Given the description of an element on the screen output the (x, y) to click on. 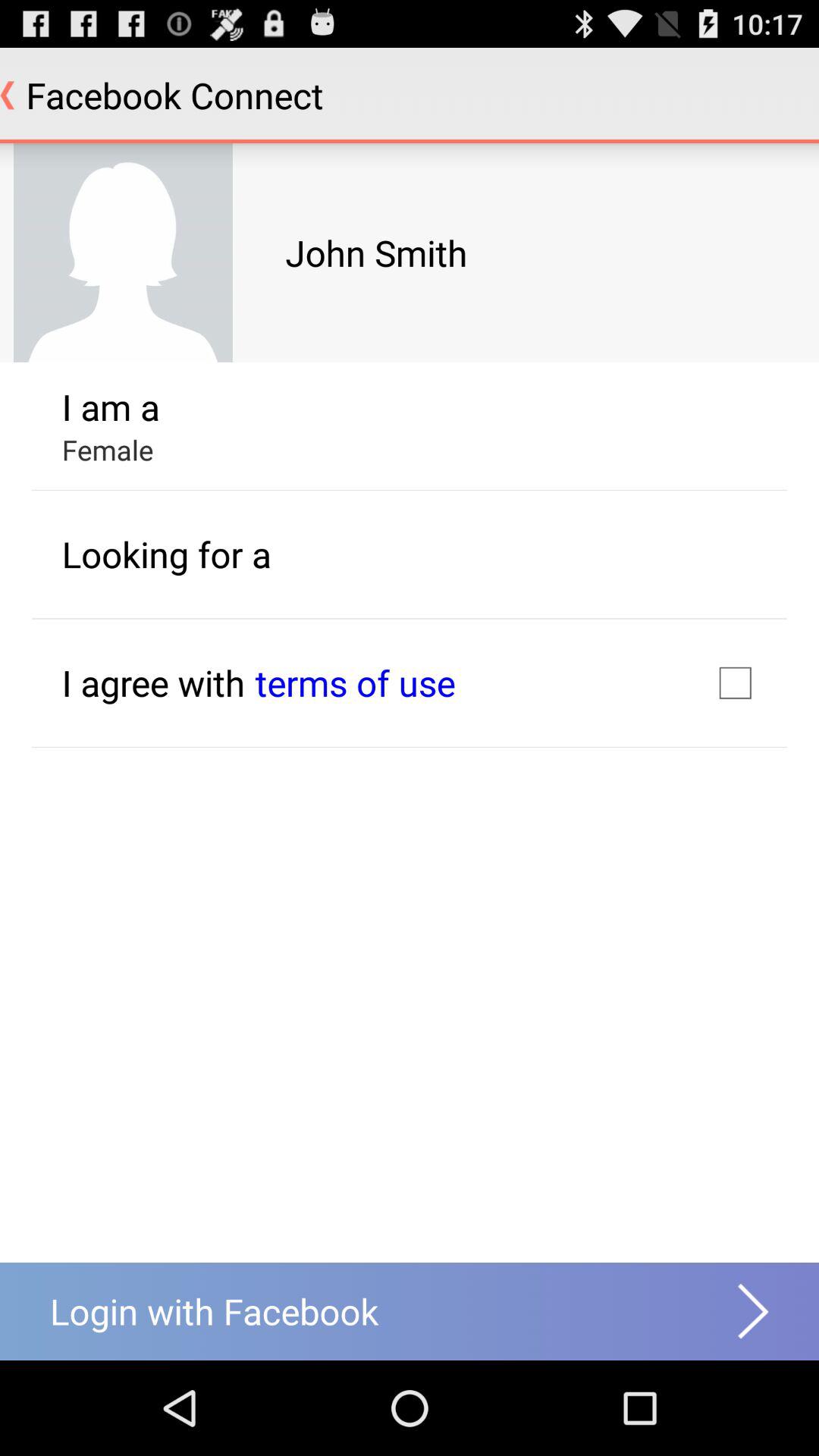
turn off the icon on the right (735, 682)
